Given the description of an element on the screen output the (x, y) to click on. 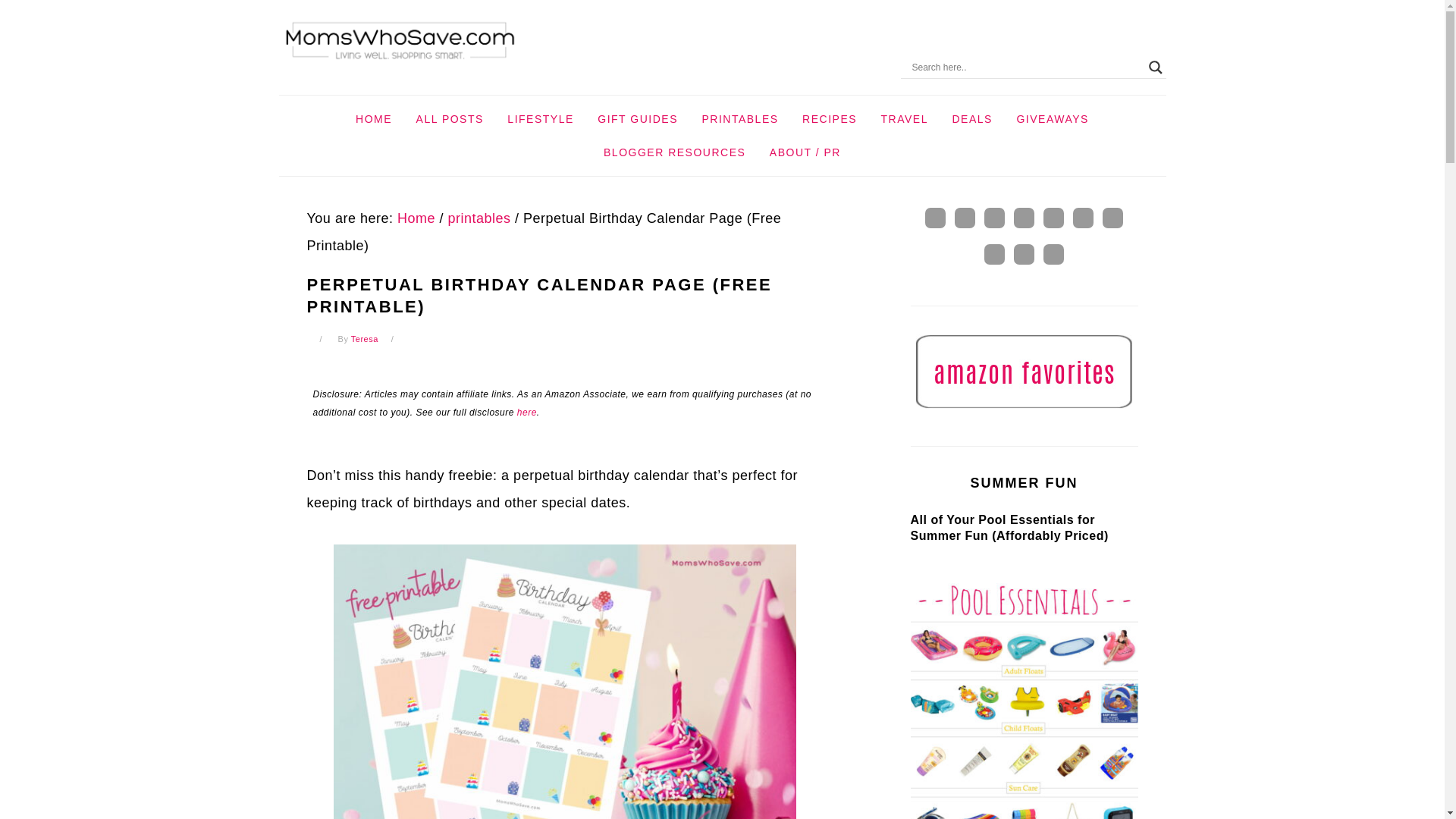
HOME (373, 118)
TRAVEL (904, 118)
RECIPES (828, 118)
Amazon favorites (1023, 371)
DEALS (971, 118)
PRINTABLES (739, 118)
GIFT GUIDES (637, 118)
MOMSWHOSAVE.COM (400, 41)
Perpetual Birthday Calendar Page Printable (564, 681)
LIFESTYLE (540, 118)
ALL POSTS (449, 118)
